Given the description of an element on the screen output the (x, y) to click on. 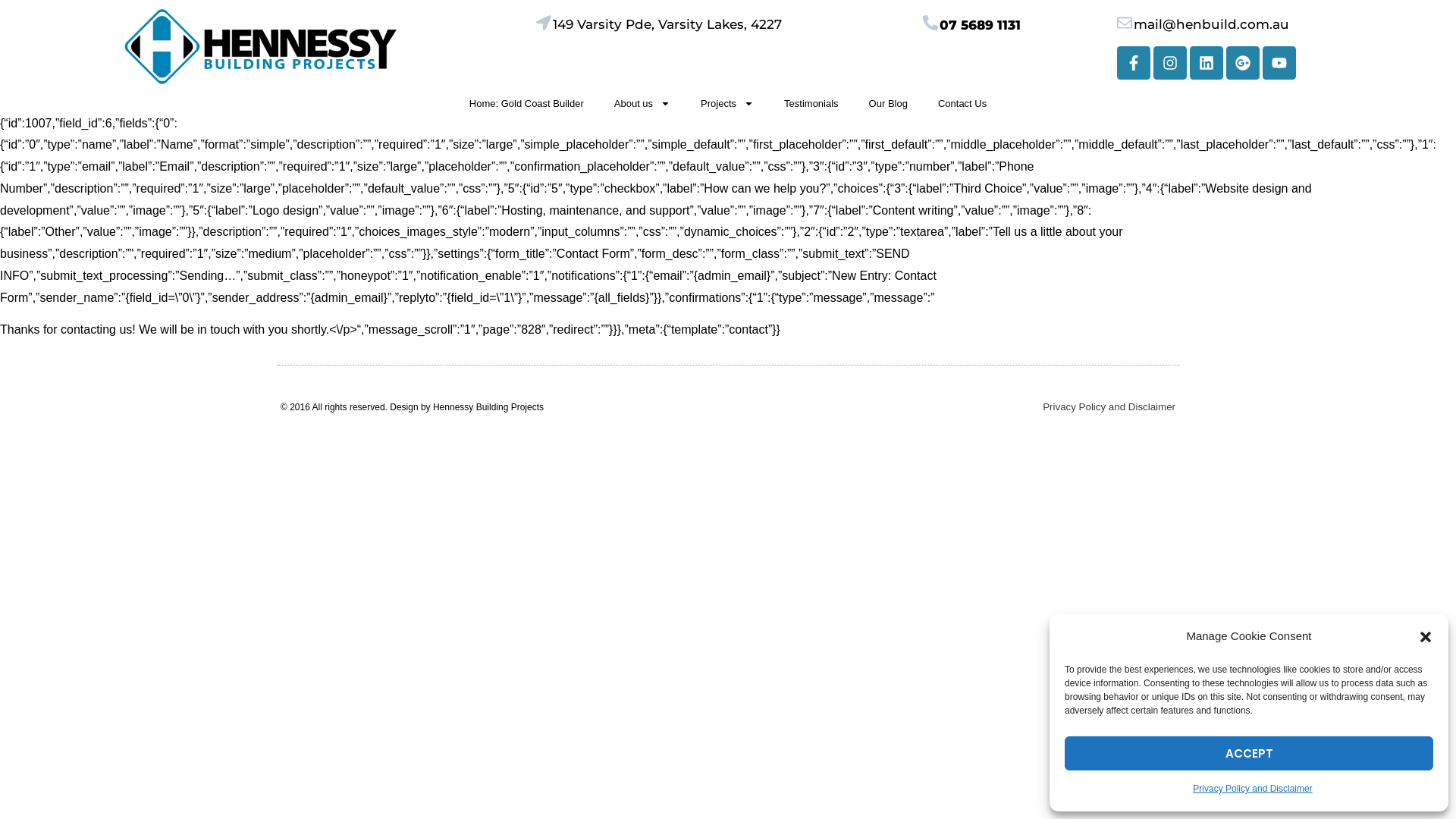
mail@henbuild.com.au Element type: text (1211, 23)
Privacy Policy and Disclaimer Element type: text (1108, 406)
07 5689 1131 Element type: text (979, 24)
Our Blog Element type: text (887, 102)
Privacy Policy and Disclaimer Element type: text (1251, 789)
Facebook-f Element type: text (1133, 61)
Instagram Element type: text (1169, 61)
Testimonials Element type: text (810, 102)
ACCEPT Element type: text (1248, 753)
Contact Us Element type: text (961, 102)
Home: Gold Coast Builder Element type: text (526, 102)
Google-plus Element type: text (1242, 61)
Youtube Element type: text (1278, 61)
Linkedin Element type: text (1206, 61)
Projects Element type: text (726, 102)
About us Element type: text (642, 102)
